Given the description of an element on the screen output the (x, y) to click on. 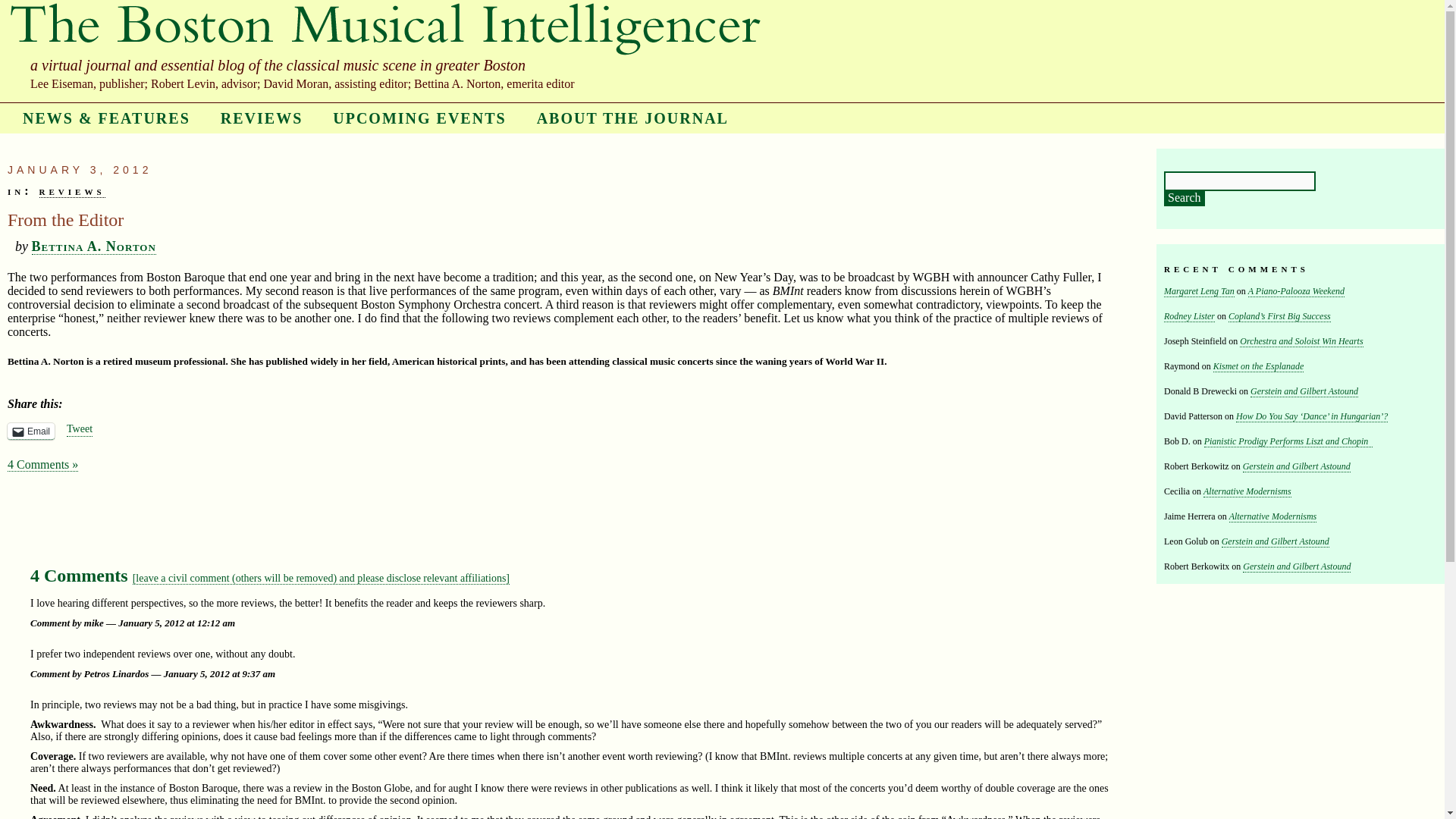
Gerstein and Gilbert Astound (1275, 541)
Email (31, 431)
Pianistic Prodigy Performs Liszt and Chopin   (1288, 441)
Bettina A. Norton (93, 246)
Rodney Lister (1188, 316)
Leave a comment (320, 578)
Gerstein and Gilbert Astound (1297, 466)
ABOUT THE JOURNAL (632, 118)
Search for: (1239, 180)
Gerstein and Gilbert Astound (1297, 566)
